Given the description of an element on the screen output the (x, y) to click on. 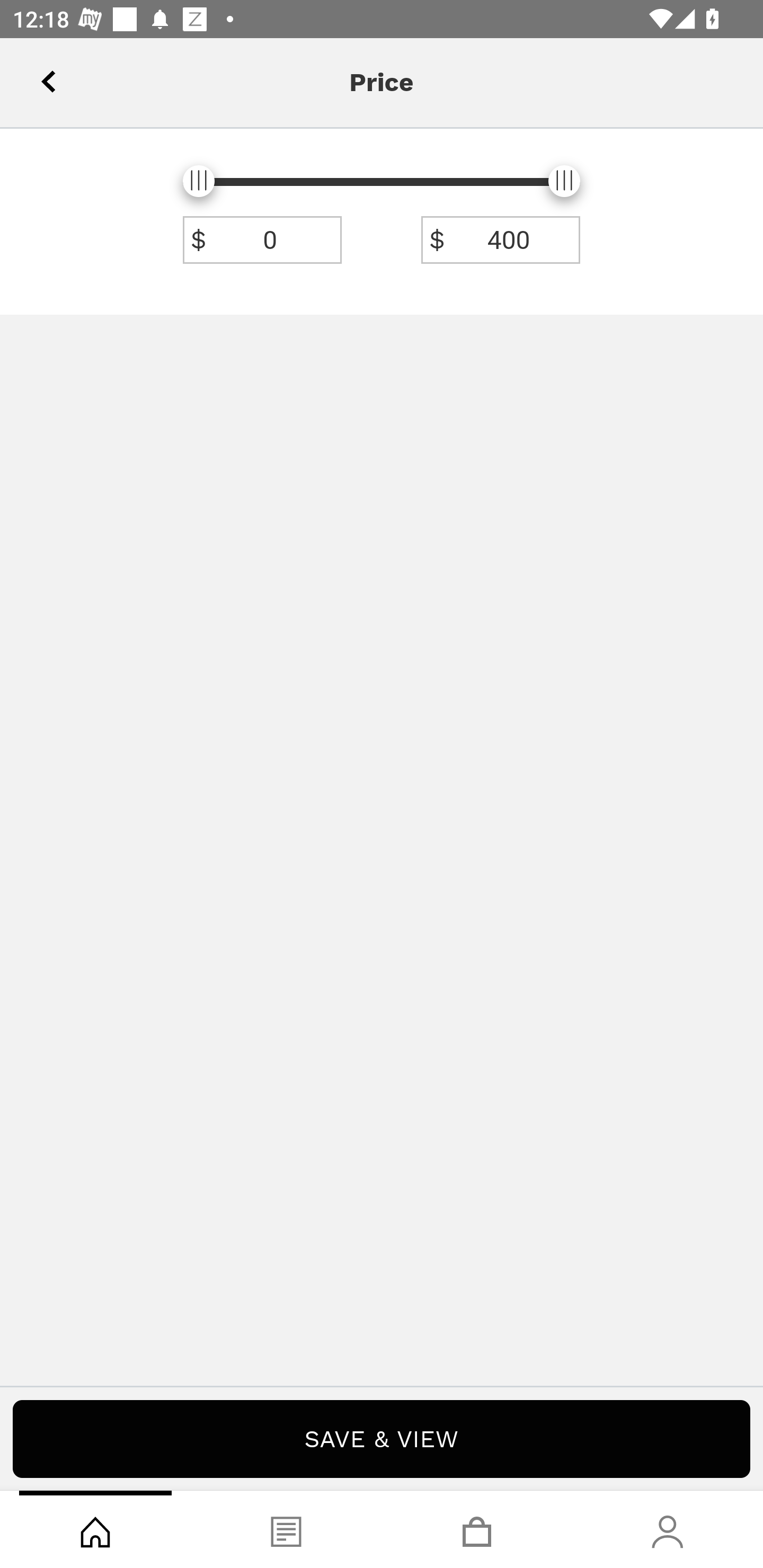
Open Menu (38, 75)
Lookfantastic USA (381, 75)
Shop, tab, 1 of 4 (95, 1529)
Blog, tab, 2 of 4 (285, 1529)
Basket, tab, 3 of 4 (476, 1529)
Account, tab, 4 of 4 (667, 1529)
